Given the description of an element on the screen output the (x, y) to click on. 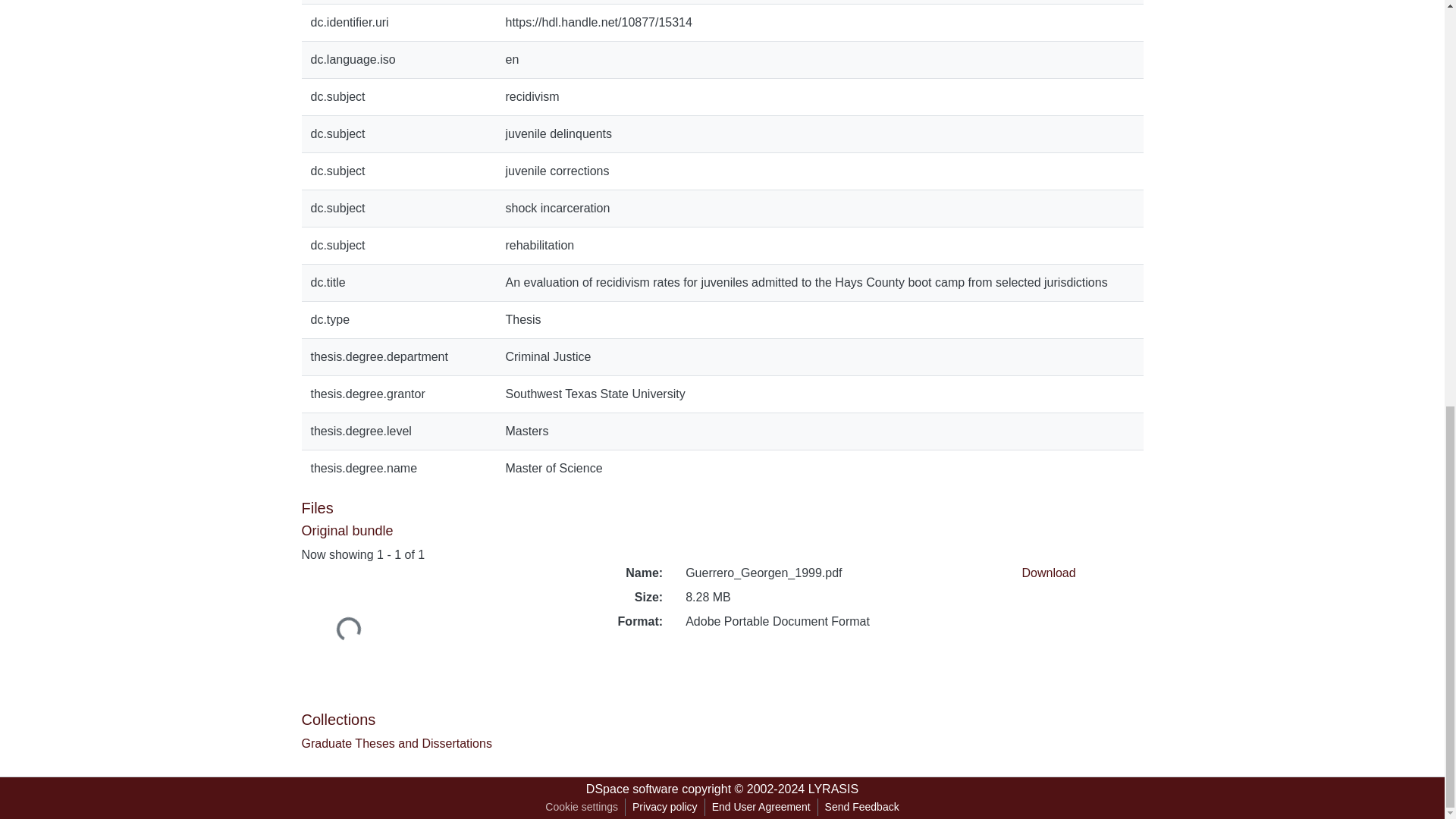
Privacy policy (665, 806)
DSpace software (632, 788)
Cookie settings (581, 806)
Graduate Theses and Dissertations (396, 743)
Send Feedback (861, 806)
Download (1048, 572)
LYRASIS (833, 788)
End User Agreement (760, 806)
